Given the description of an element on the screen output the (x, y) to click on. 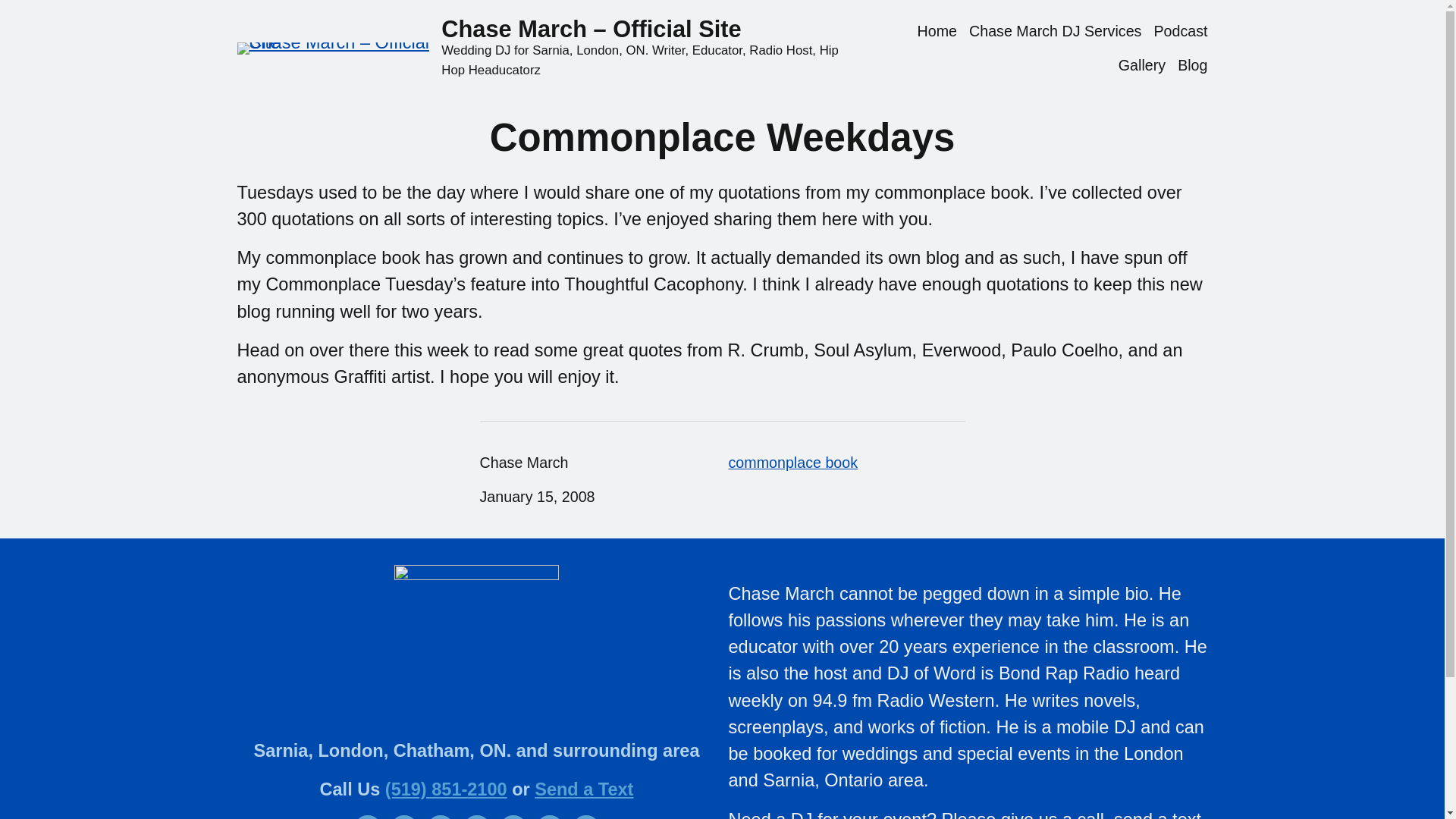
Home (936, 31)
Podcast (1180, 31)
Mail (585, 816)
TikTok (476, 816)
Gallery (1142, 65)
Send a Text (583, 789)
Blog (1192, 65)
Instagram (439, 816)
YouTube (512, 816)
Facebook (366, 816)
